Given the description of an element on the screen output the (x, y) to click on. 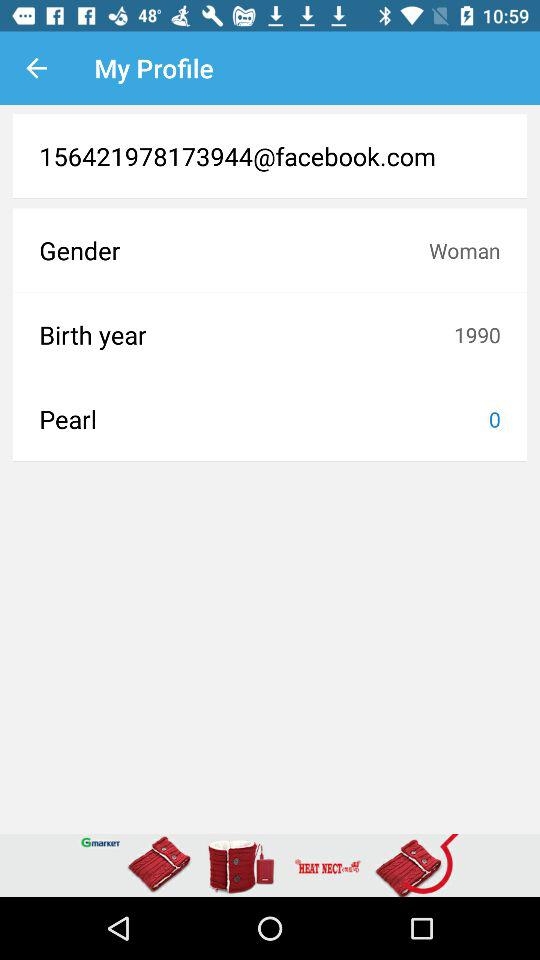
turn off 0 icon (494, 419)
